Given the description of an element on the screen output the (x, y) to click on. 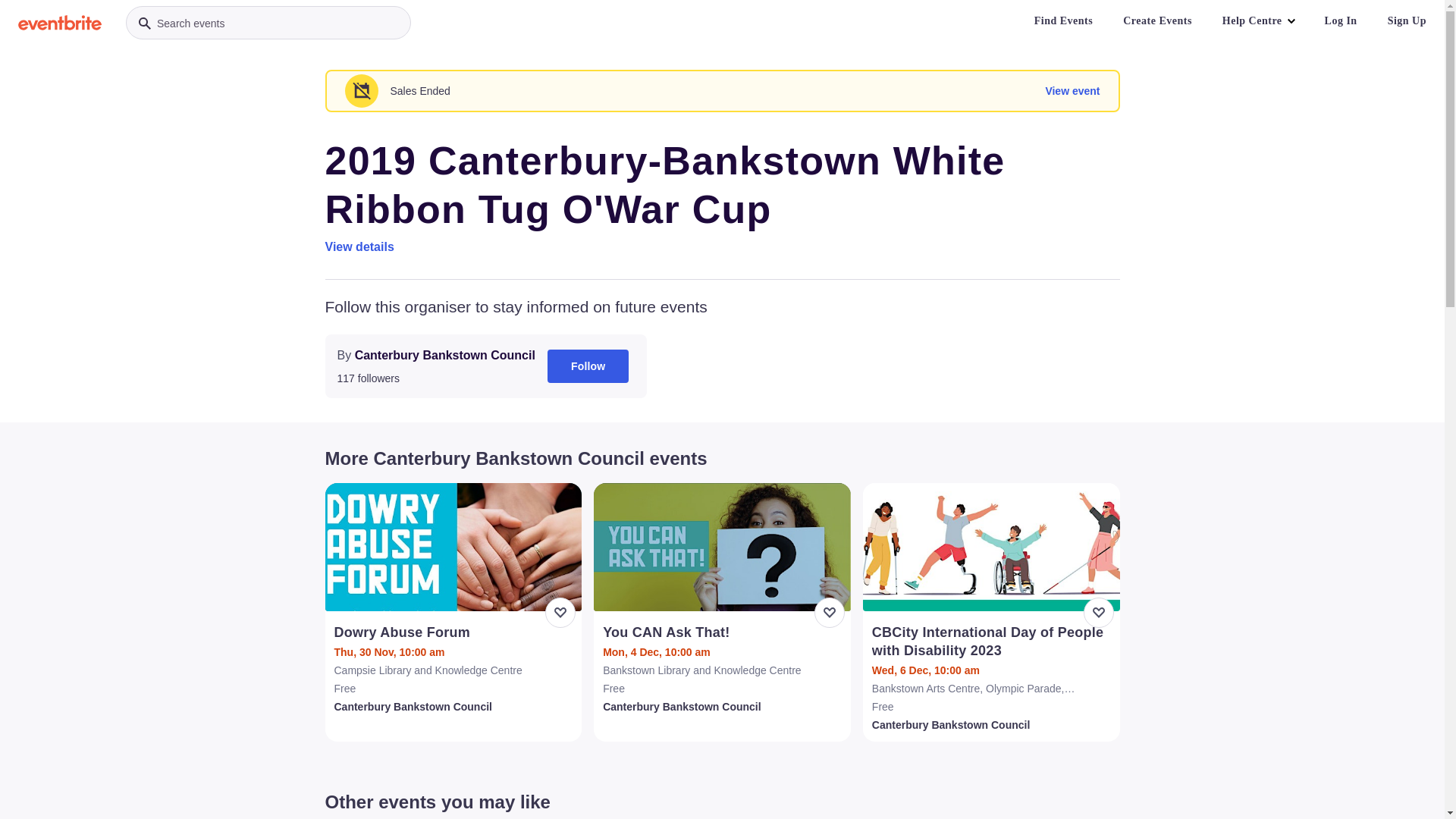
View details Element type: text (358, 246)
CBCity International Day of People with Disability 2023 Element type: text (992, 641)
Dowry Abuse Forum Element type: text (454, 632)
Eventbrite Element type: hover (59, 22)
View event Element type: text (1071, 90)
Follow Element type: text (588, 365)
Find Events Element type: text (1063, 21)
Log In Element type: text (1340, 21)
Create Events Element type: text (1157, 21)
Search events Element type: text (268, 22)
Sign Up Element type: text (1406, 21)
You CAN Ask That! Element type: text (723, 632)
